Given the description of an element on the screen output the (x, y) to click on. 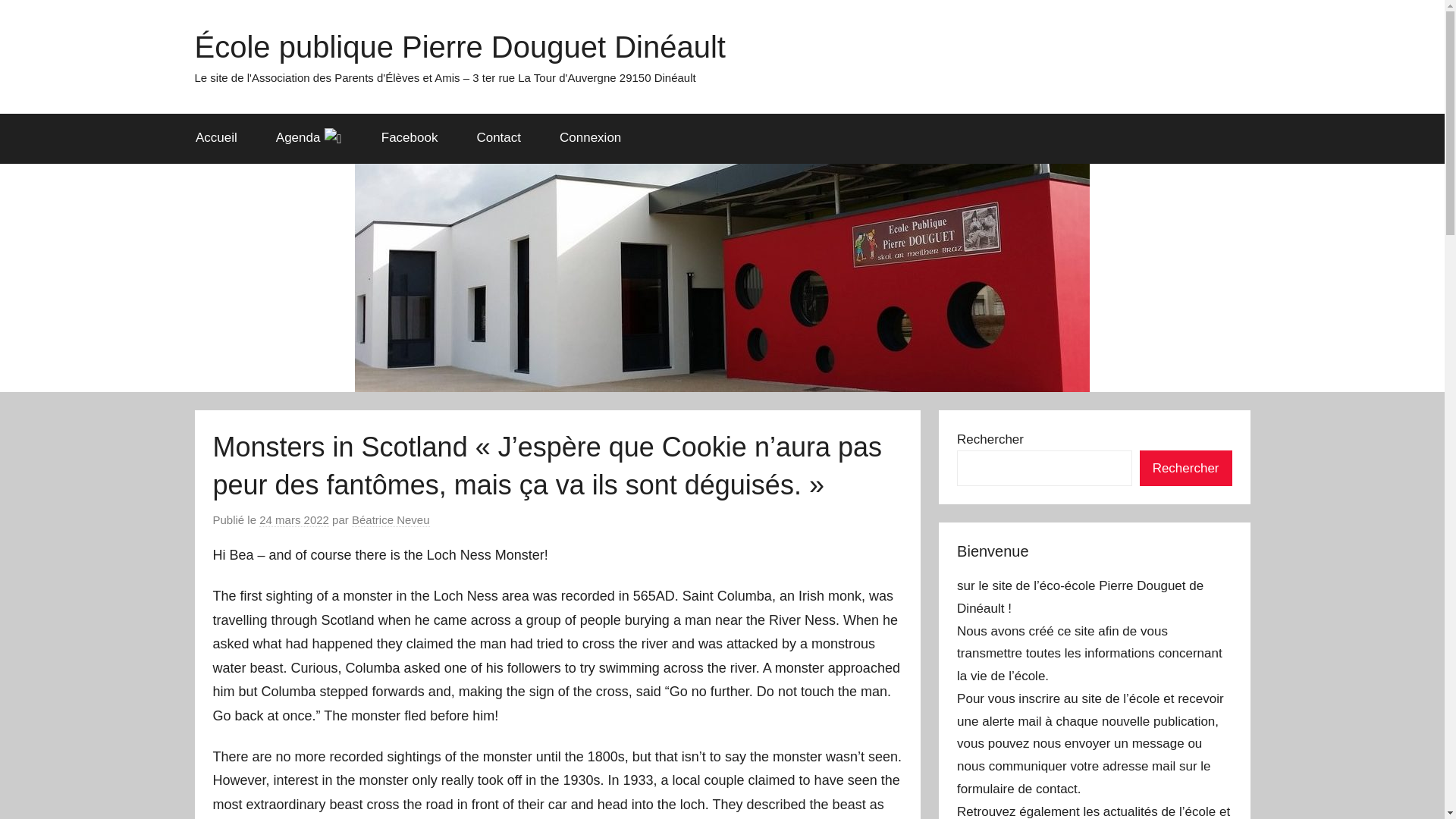
Agenda (308, 137)
Connexion (590, 137)
24 mars 2022 (294, 520)
Rechercher (1185, 468)
Accueil (216, 137)
Facebook (409, 137)
Contact (498, 137)
